Given the description of an element on the screen output the (x, y) to click on. 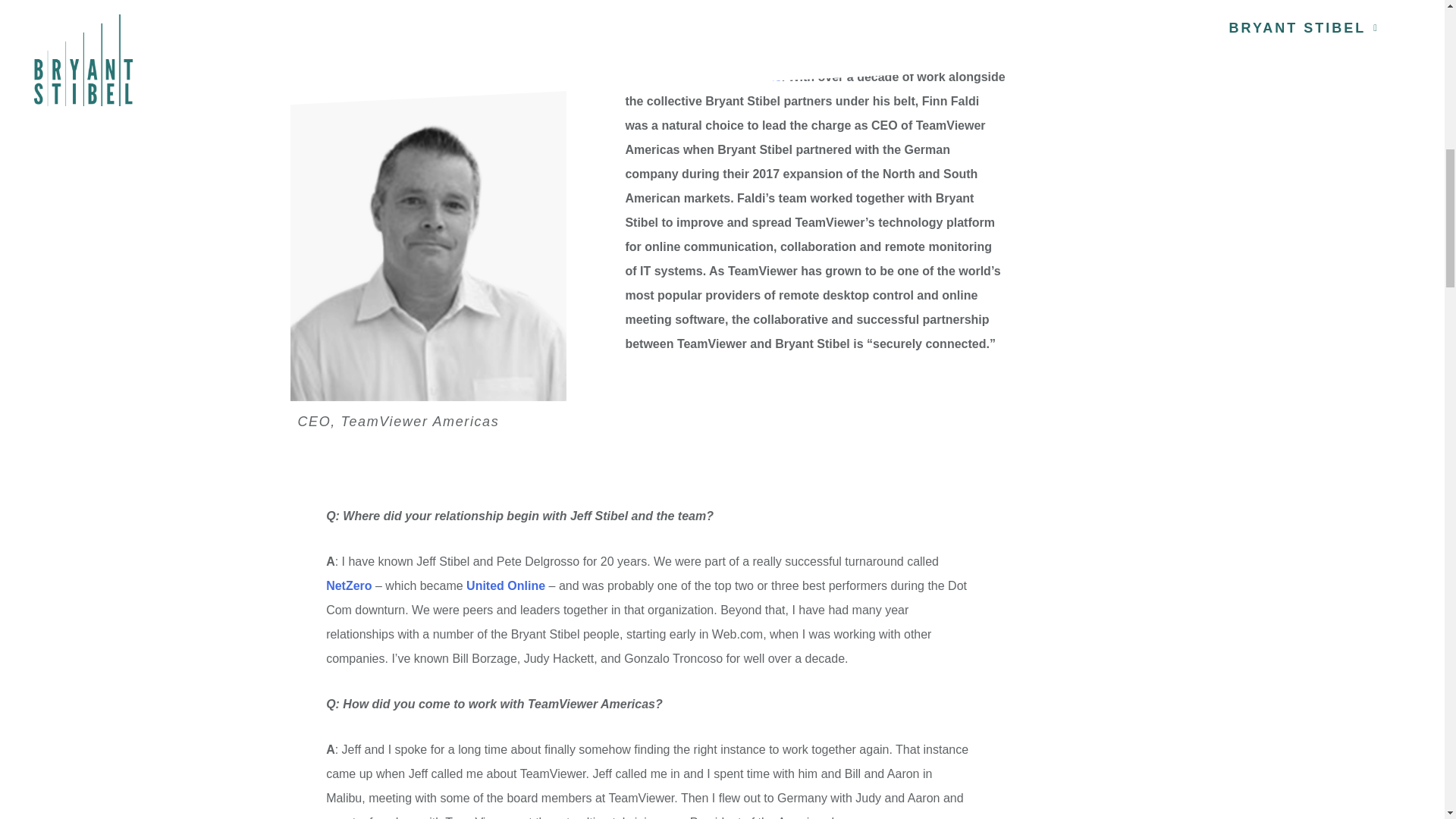
United Online (504, 585)
United Online (742, 76)
NetZero (348, 585)
NetZero (924, 51)
